Given the description of an element on the screen output the (x, y) to click on. 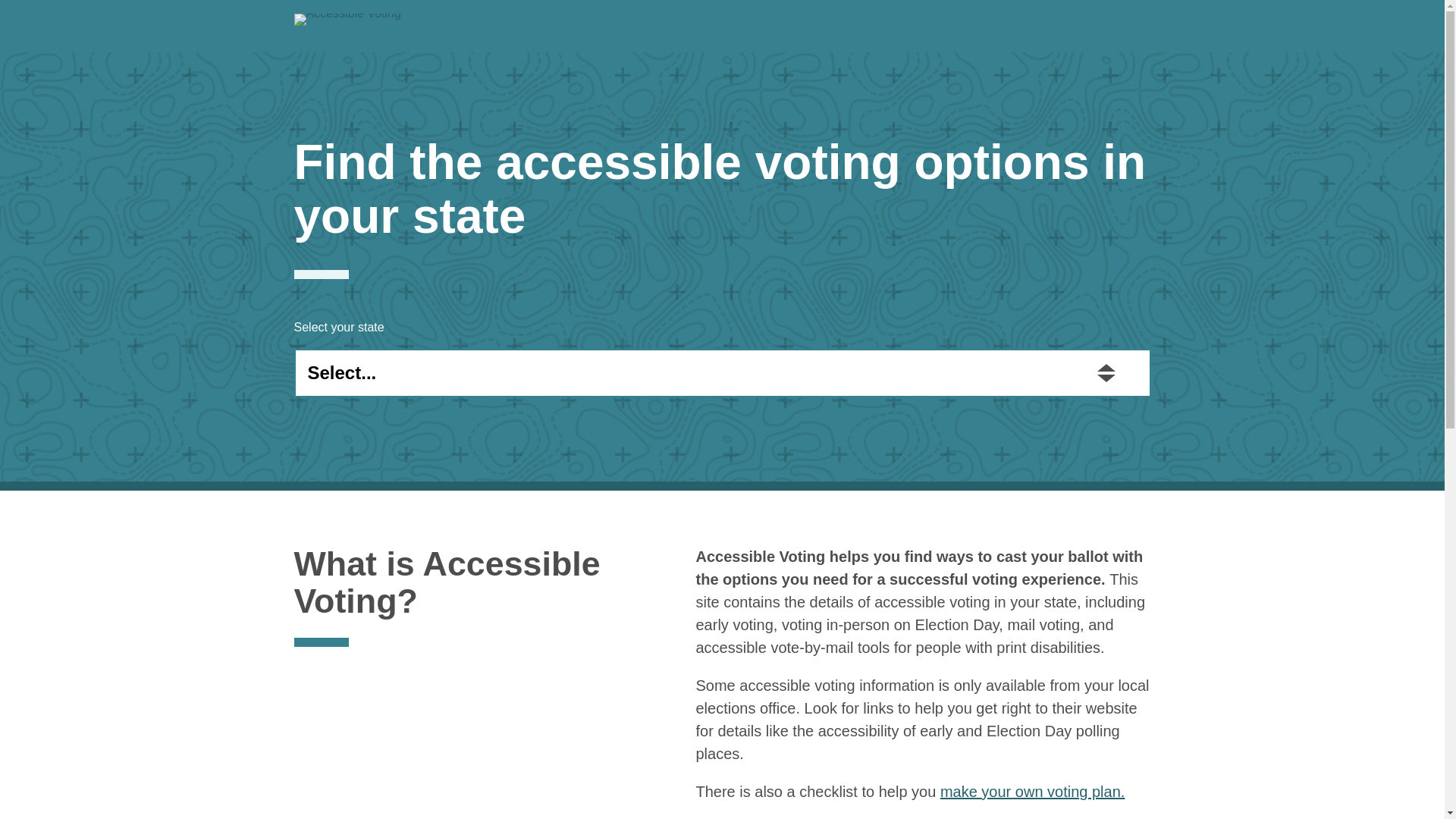
Select... (722, 372)
